Given the description of an element on the screen output the (x, y) to click on. 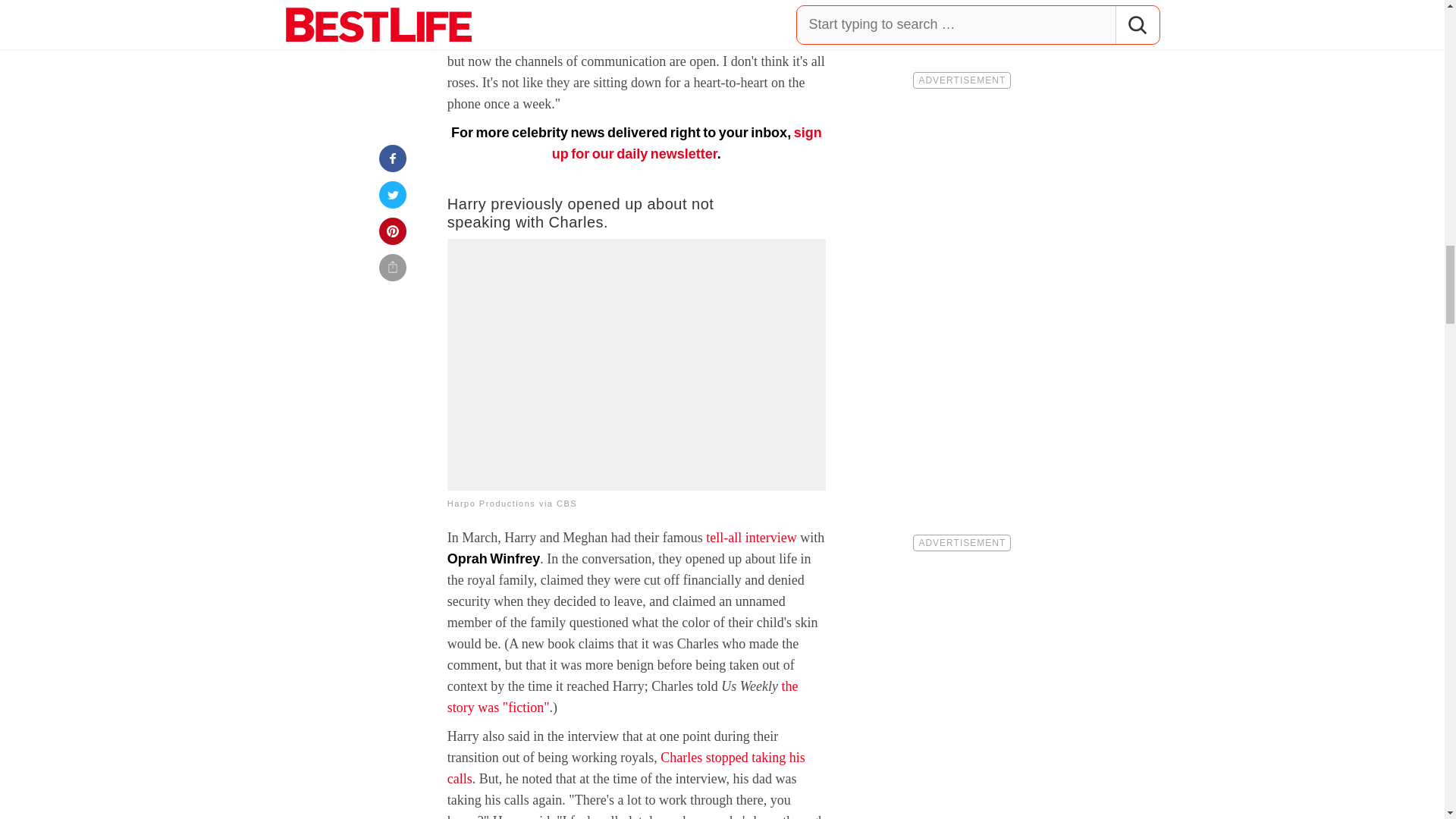
sign up for our daily newsletter (686, 143)
